Given the description of an element on the screen output the (x, y) to click on. 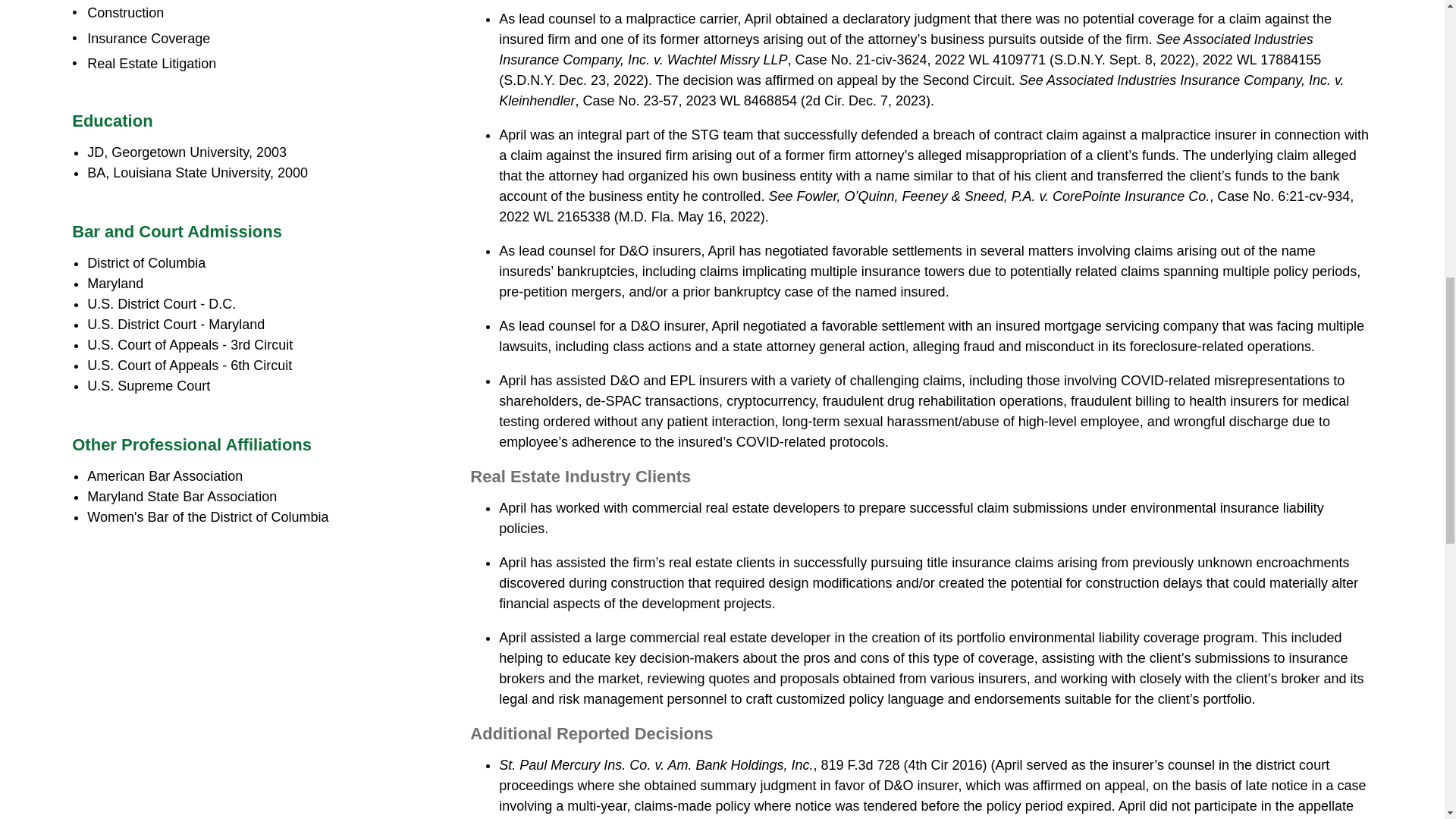
Read more about Construction (125, 12)
Construction (125, 12)
Real Estate Litigation (151, 63)
Insurance Coverage (148, 38)
Read more about Real Estate Litigation (151, 63)
Read more about Insurance Coverage (148, 38)
